Given the description of an element on the screen output the (x, y) to click on. 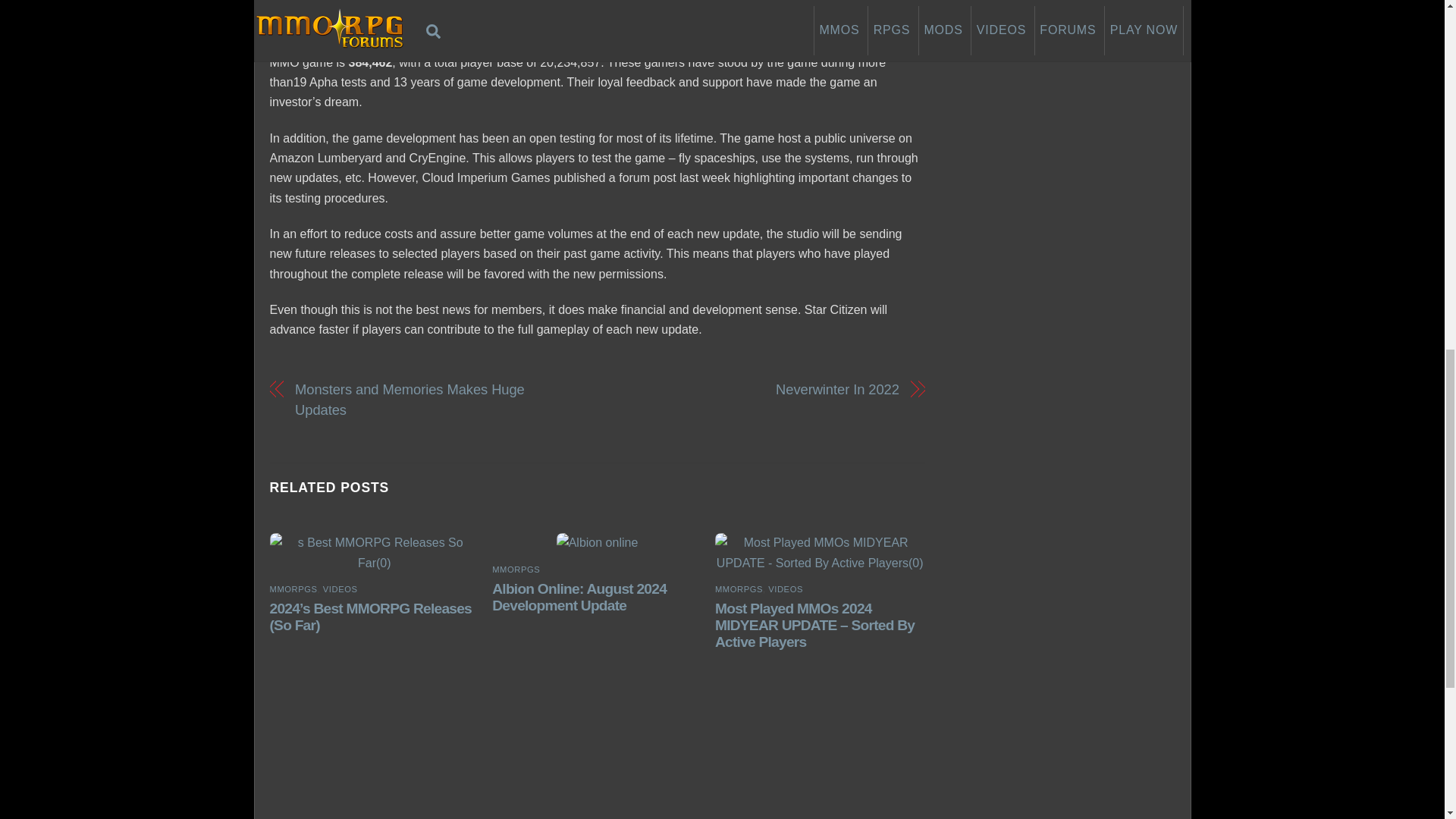
MMORPGS (293, 588)
Monsters and Memories Makes Huge Updates (435, 400)
MMORPGS (738, 588)
VIDEOS (785, 588)
Albion Online: August 2024 Development Update (579, 596)
Neverwinter In 2022 (756, 389)
VIDEOS (340, 588)
albion online (597, 542)
MMORPGS (516, 569)
